Given the description of an element on the screen output the (x, y) to click on. 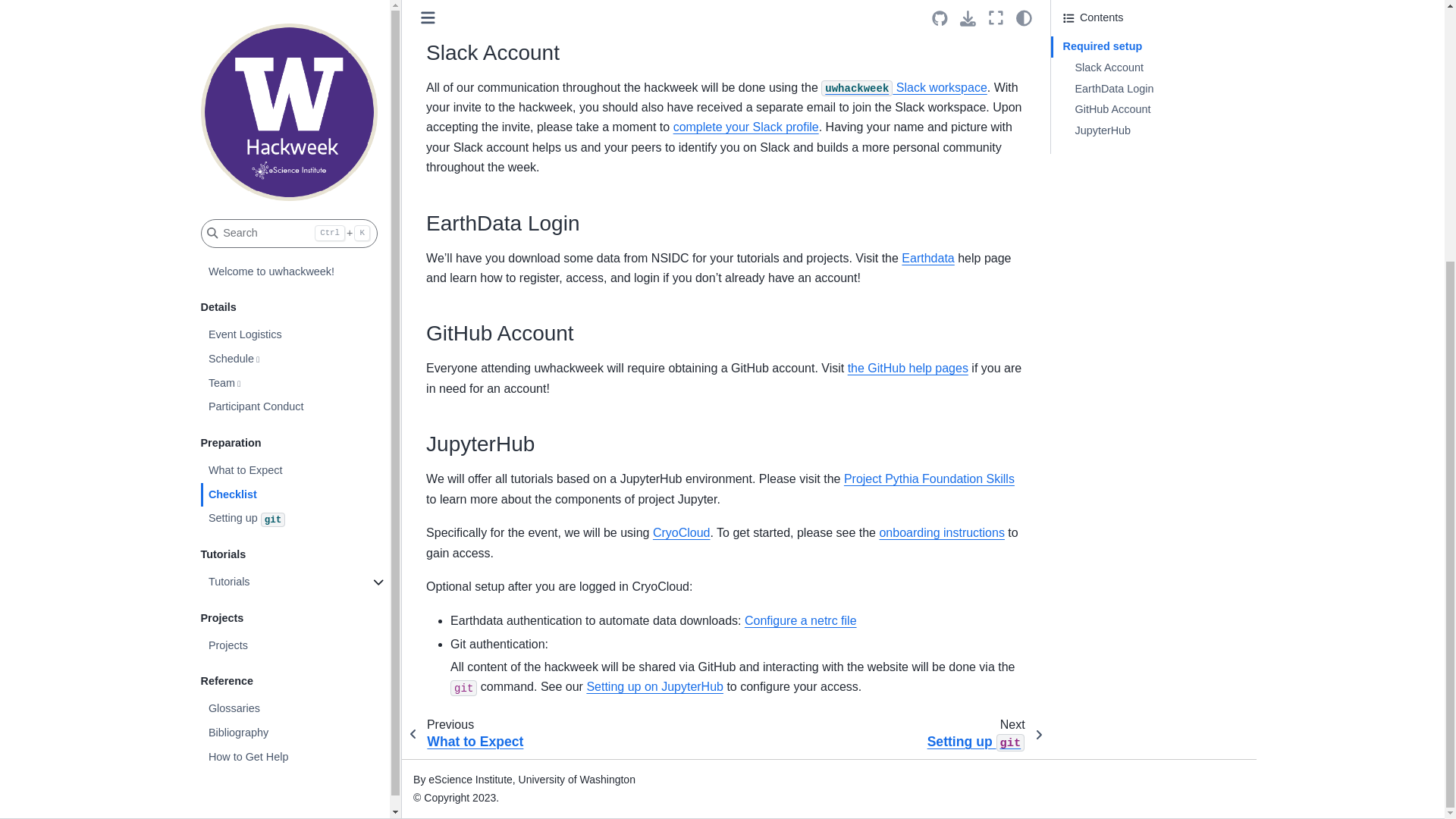
Checklist (295, 120)
How to Get Help (295, 383)
previous page (471, 734)
complete your Slack profile (745, 126)
Setting up git (295, 144)
What to Expect (295, 96)
Participant Conduct (295, 33)
Tutorials (295, 208)
Glossaries (295, 334)
Bibliography (295, 359)
Team (295, 11)
uwhackweek Slack workspace (904, 87)
Earthdata (927, 257)
next page (978, 735)
Projects (295, 272)
